Given the description of an element on the screen output the (x, y) to click on. 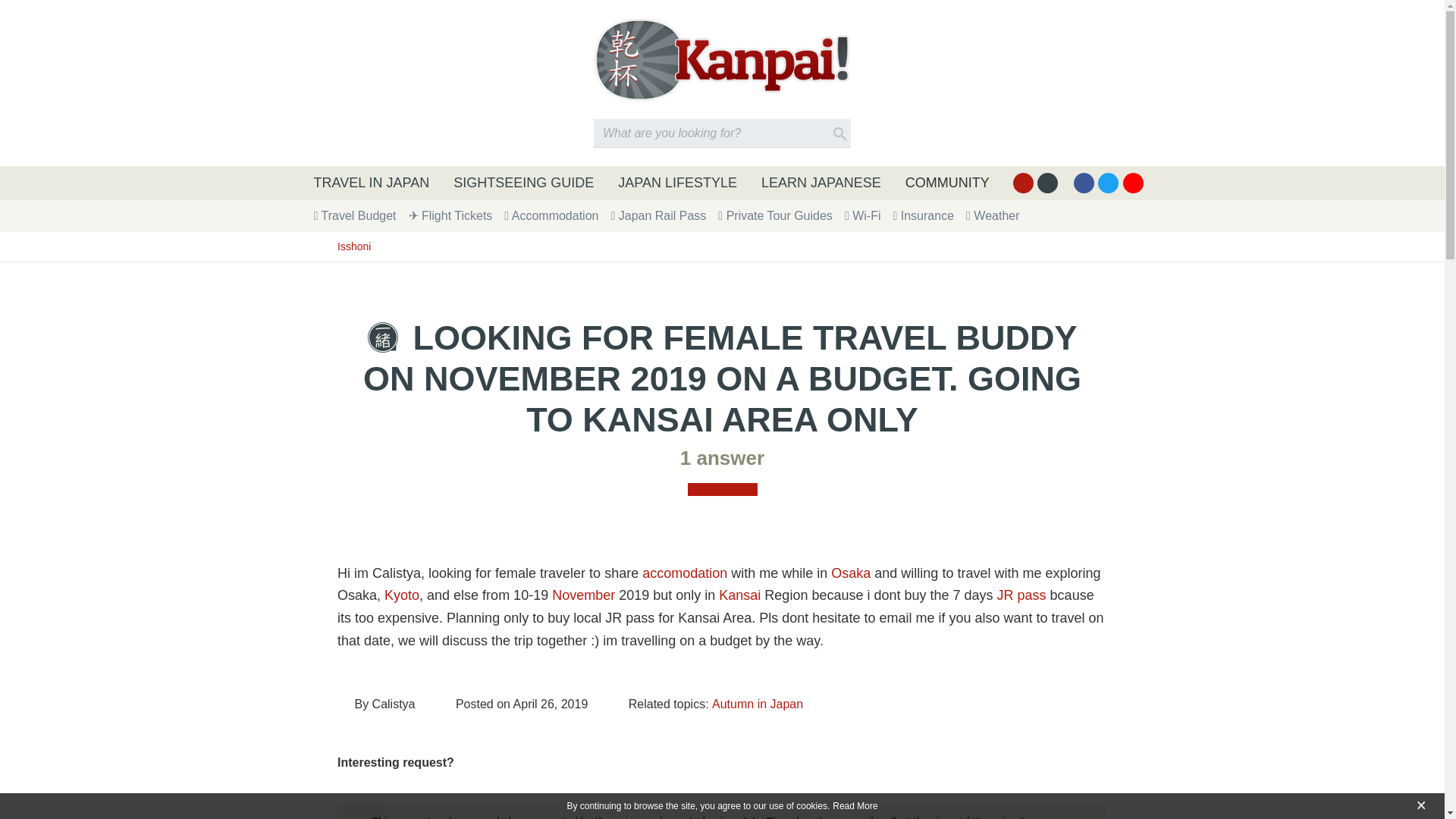
Kanpai-japan.com logo (722, 59)
Enter the terms you wish to search for. (722, 133)
Kanpai on YouTube (1132, 182)
TRAVEL IN JAPAN (371, 182)
SIGHTSEEING GUIDE (523, 182)
Accommodation in Japan: A Comprehensive Guide (550, 215)
Search (839, 133)
Calculate your Japan travel budget (355, 215)
Travel insurance and assistance for Japan (922, 215)
Kanpai on Twitter (1107, 182)
Airfare deals to Japan: Find the cheapest flights (451, 215)
Japan Rail Pass: where to buy for cheap? (658, 215)
Kanpai on Facebook (1084, 182)
Kanpai Newsletter (1047, 182)
